Given the description of an element on the screen output the (x, y) to click on. 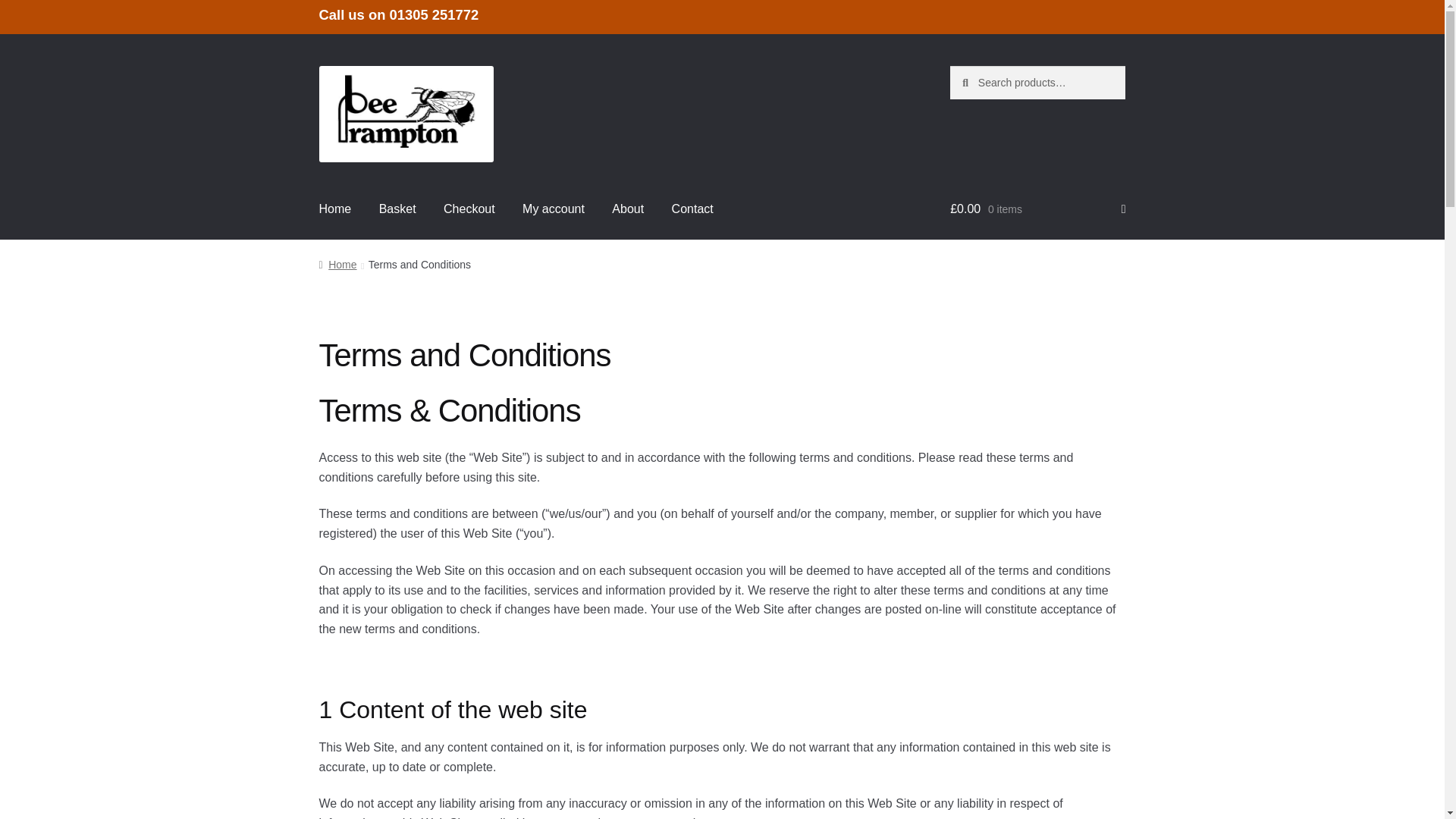
View your shopping basket (1037, 209)
Home (335, 209)
Contact (692, 209)
About (627, 209)
Checkout (468, 209)
Home (337, 264)
Basket (397, 209)
My account (553, 209)
